Given the description of an element on the screen output the (x, y) to click on. 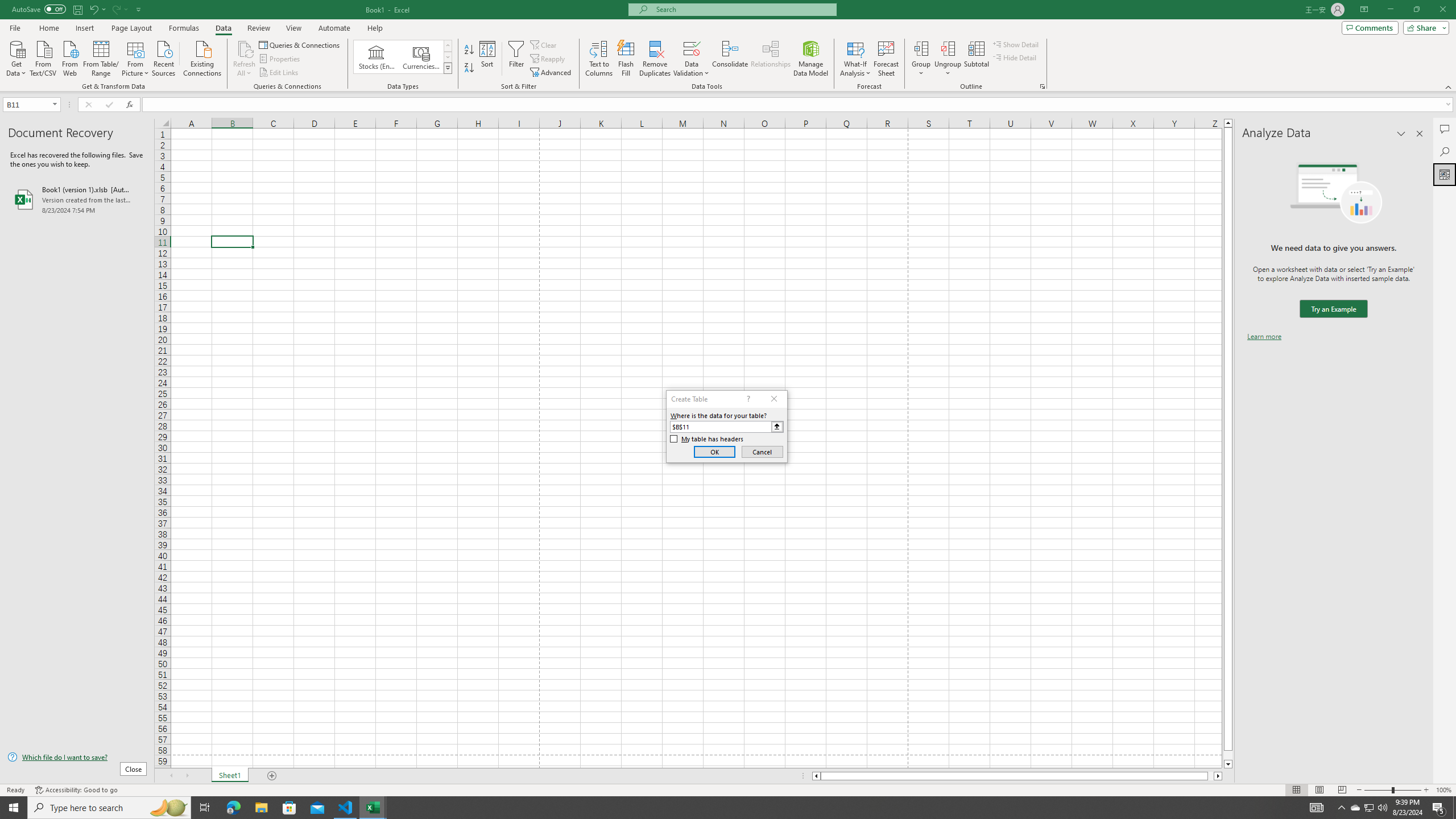
AutoSave (38, 9)
